Given the description of an element on the screen output the (x, y) to click on. 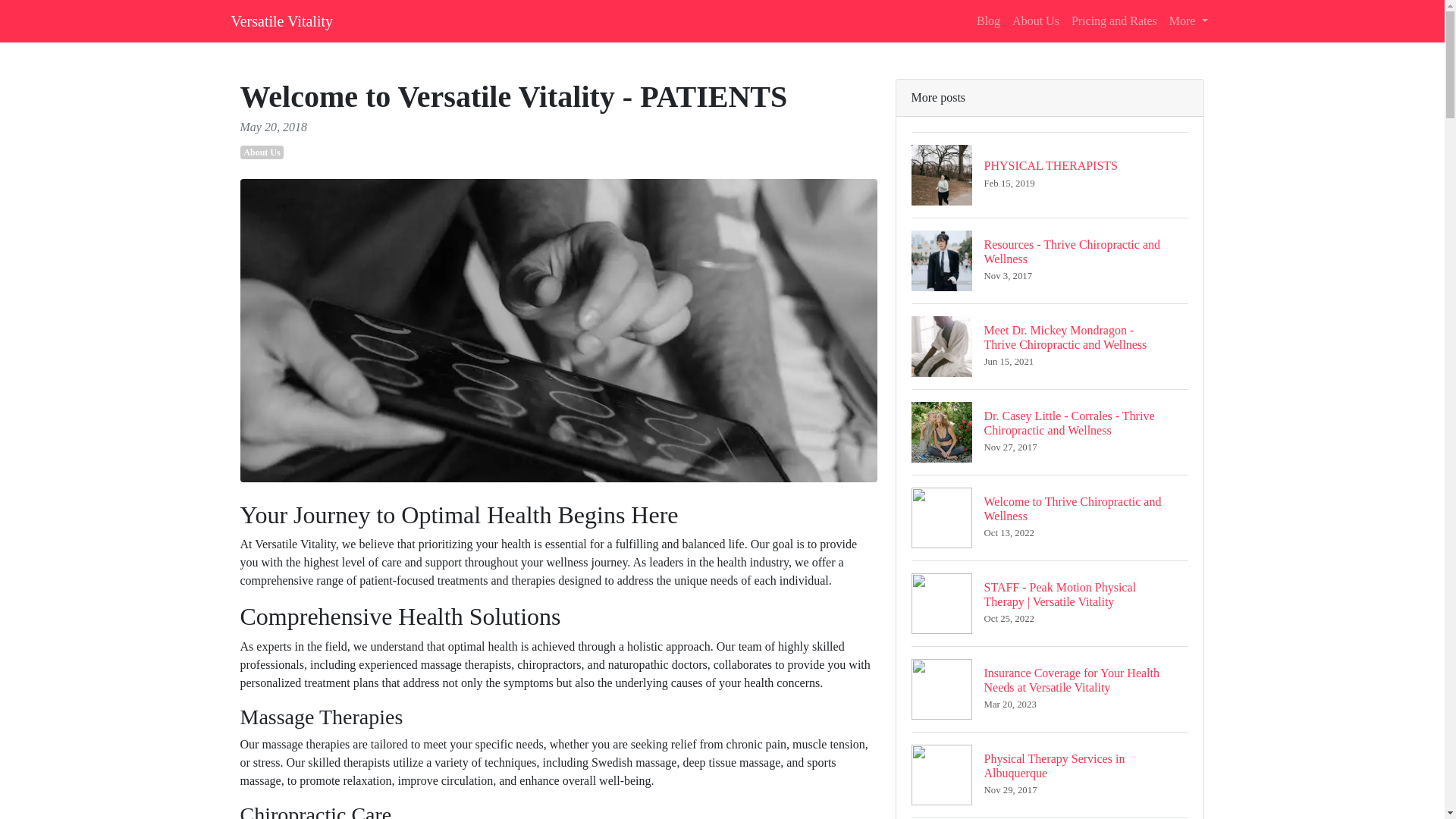
Versatile Vitality (281, 20)
Blog (988, 20)
About Us (261, 151)
More (1050, 774)
Pricing and Rates (1050, 174)
About Us (1188, 20)
